Given the description of an element on the screen output the (x, y) to click on. 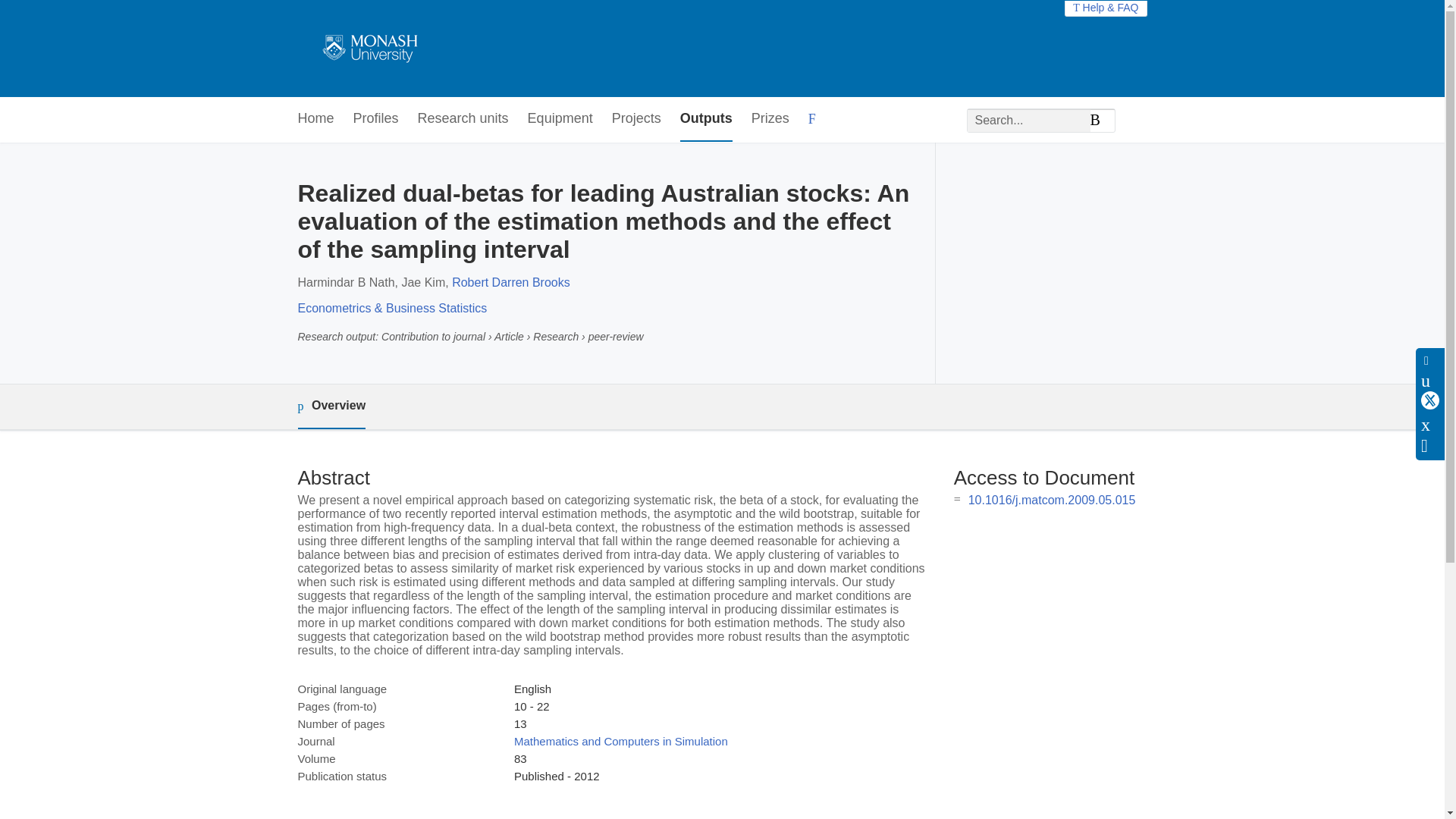
Projects (636, 119)
Outputs (705, 119)
Overview (331, 406)
Robert Darren Brooks (510, 282)
Research units (462, 119)
Mathematics and Computers in Simulation (620, 740)
Profiles (375, 119)
Monash University Home (366, 48)
Equipment (559, 119)
